Given the description of an element on the screen output the (x, y) to click on. 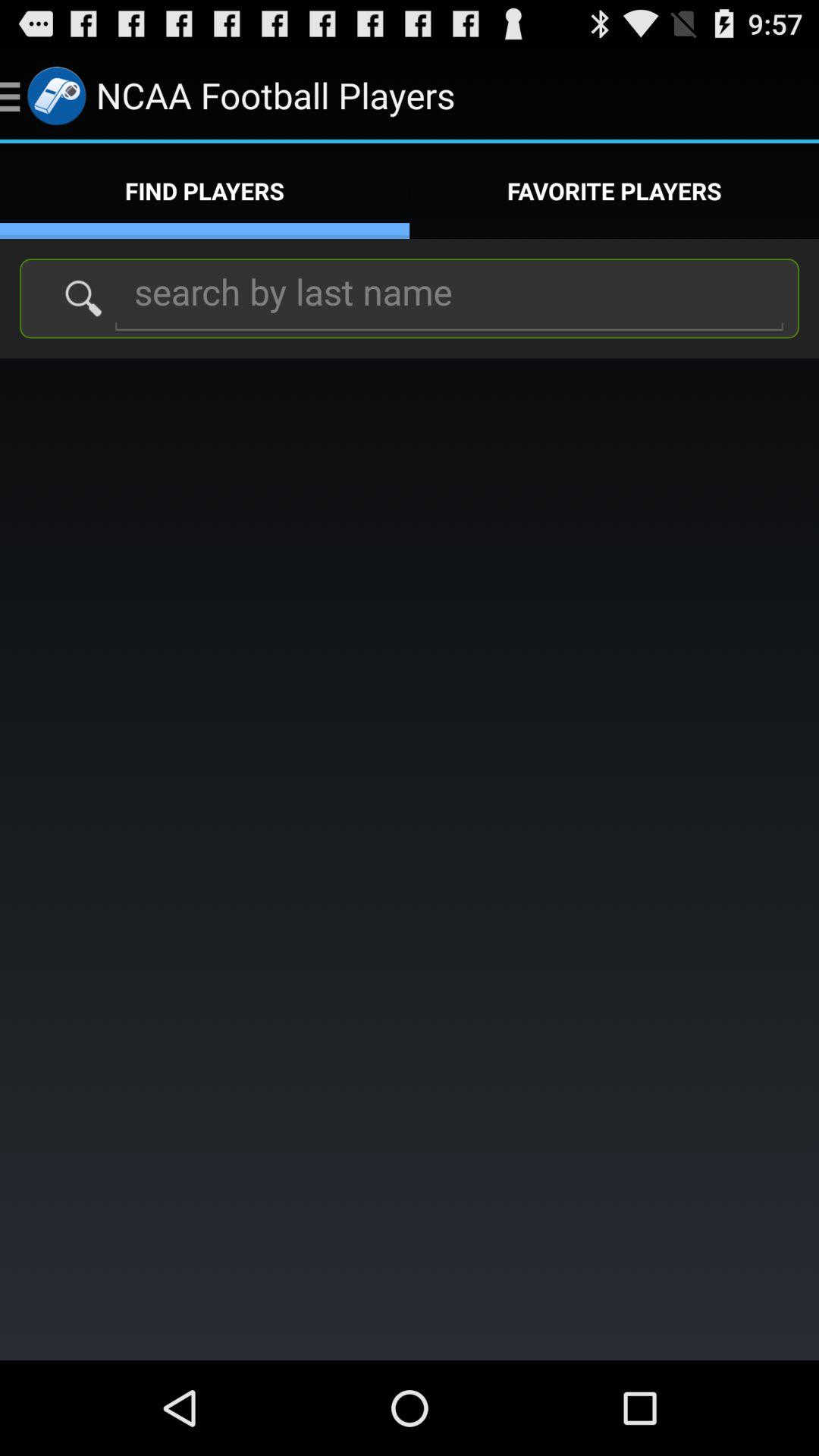
scroll to the favorite players item (614, 190)
